Given the description of an element on the screen output the (x, y) to click on. 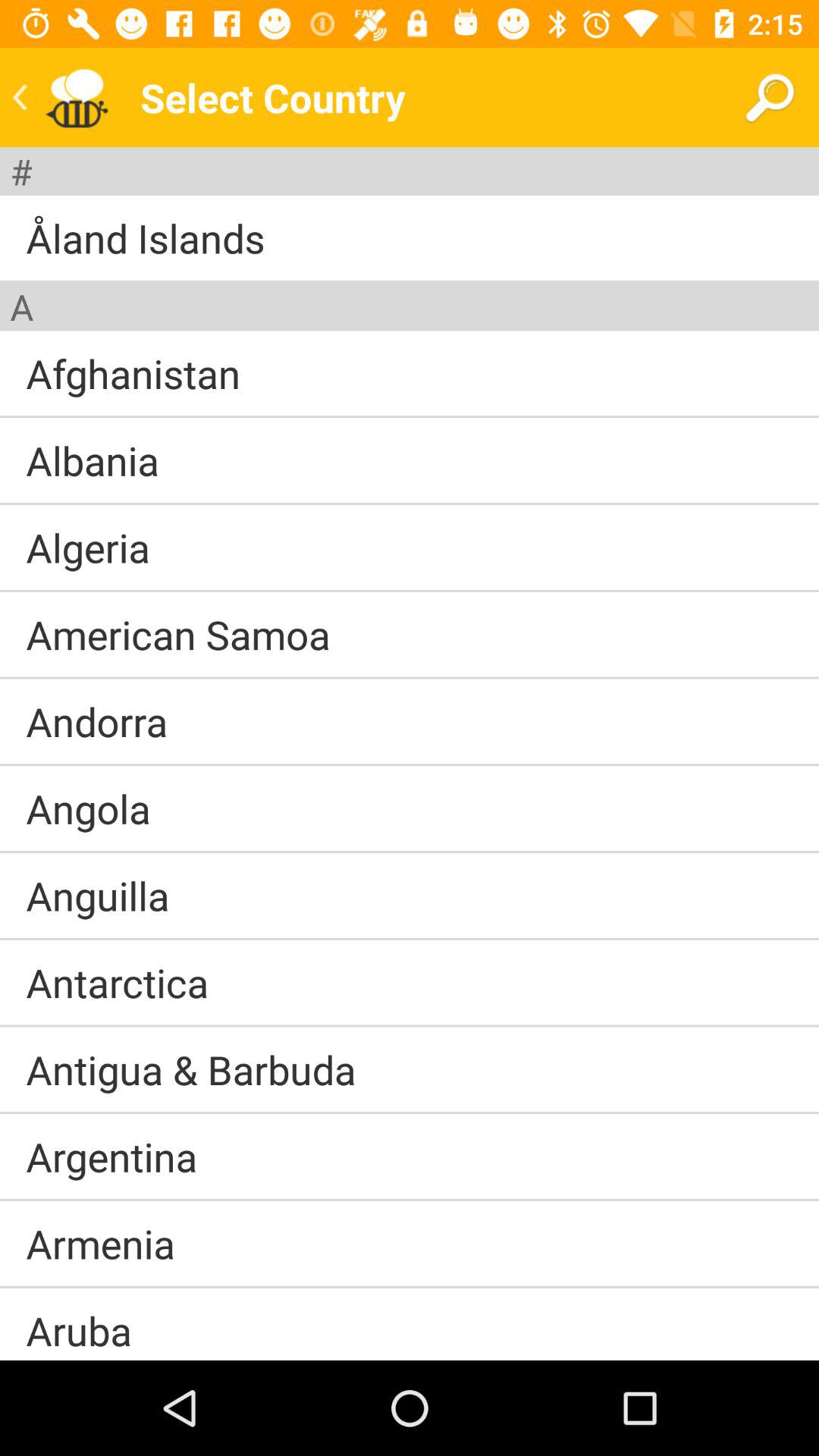
open icon next to select country icon (769, 97)
